Given the description of an element on the screen output the (x, y) to click on. 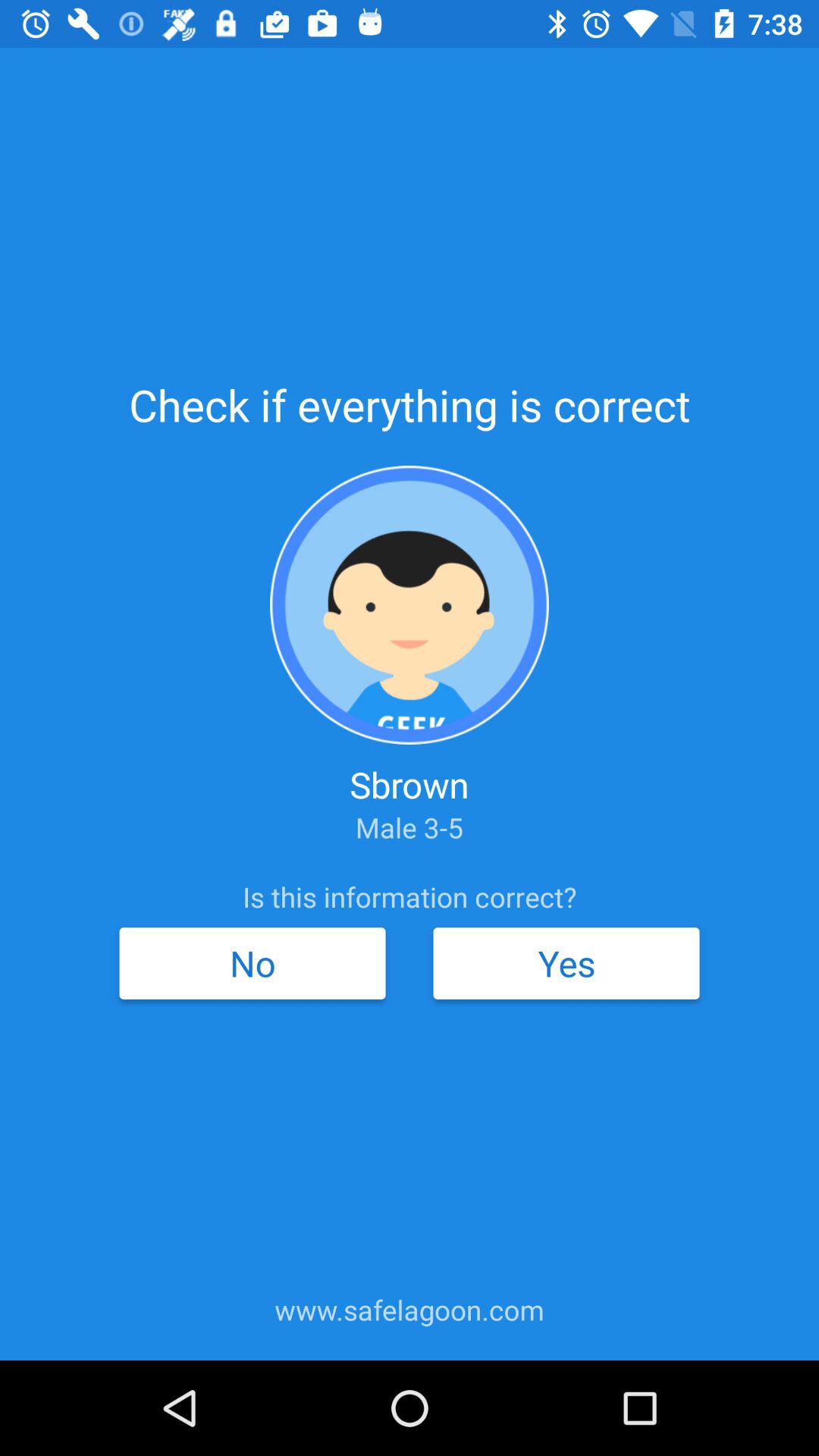
tap icon above www.safelagoon.com icon (566, 963)
